Given the description of an element on the screen output the (x, y) to click on. 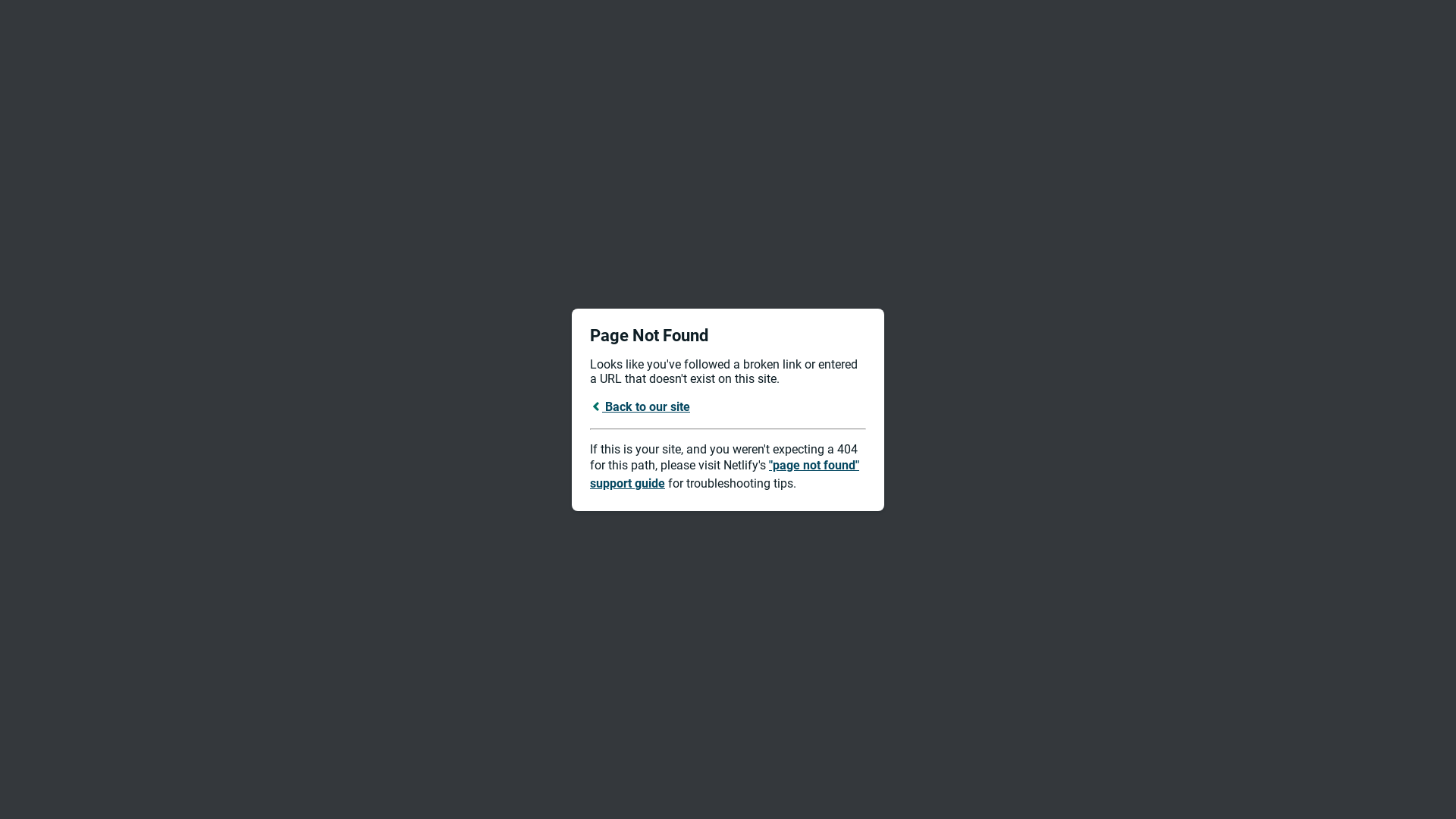
"page not found" support guide Element type: text (724, 474)
Back to our site Element type: text (639, 405)
